Given the description of an element on the screen output the (x, y) to click on. 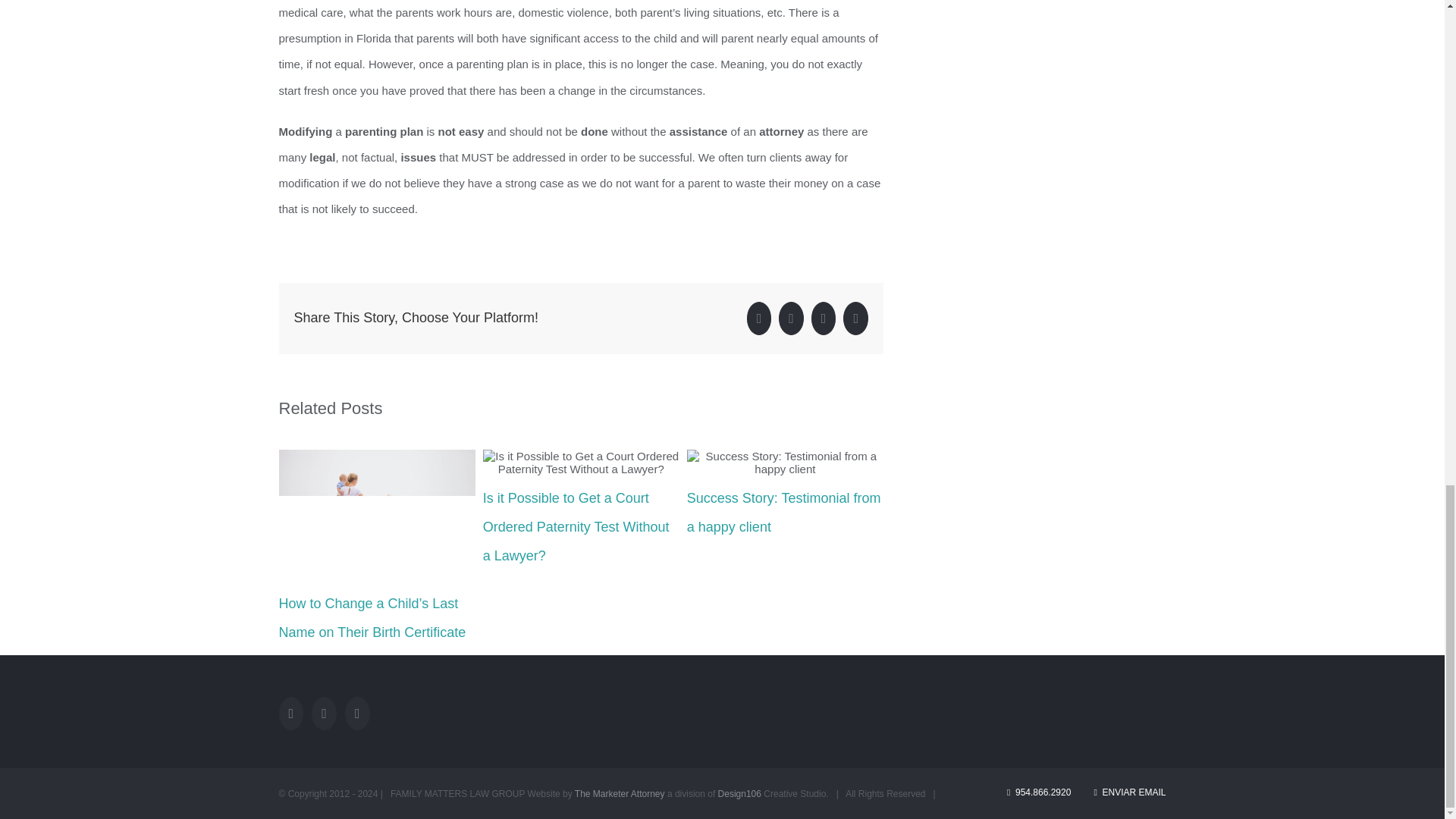
Success Story: Testimonial from a happy client (783, 512)
Success Story: Testimonial from a happy client (783, 512)
